Given the description of an element on the screen output the (x, y) to click on. 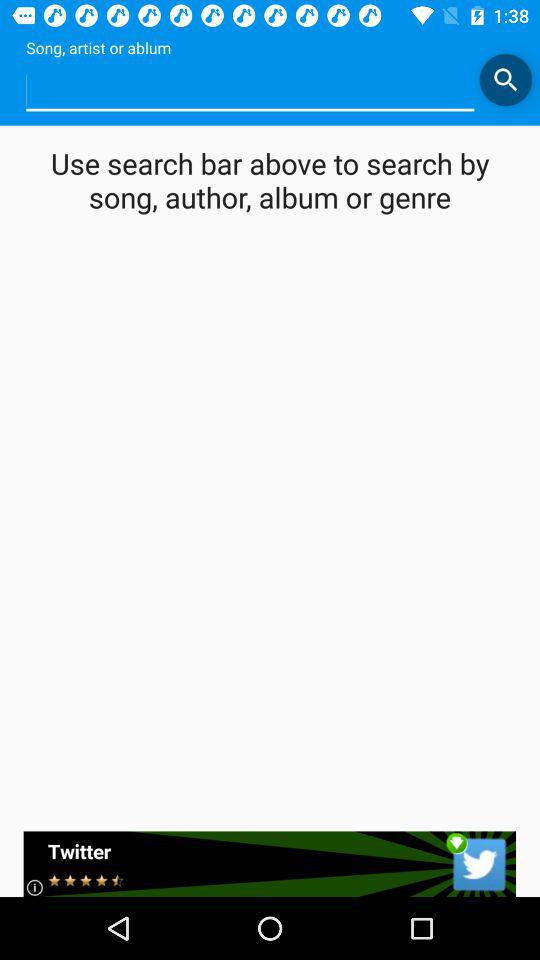
to type search query (250, 90)
